Given the description of an element on the screen output the (x, y) to click on. 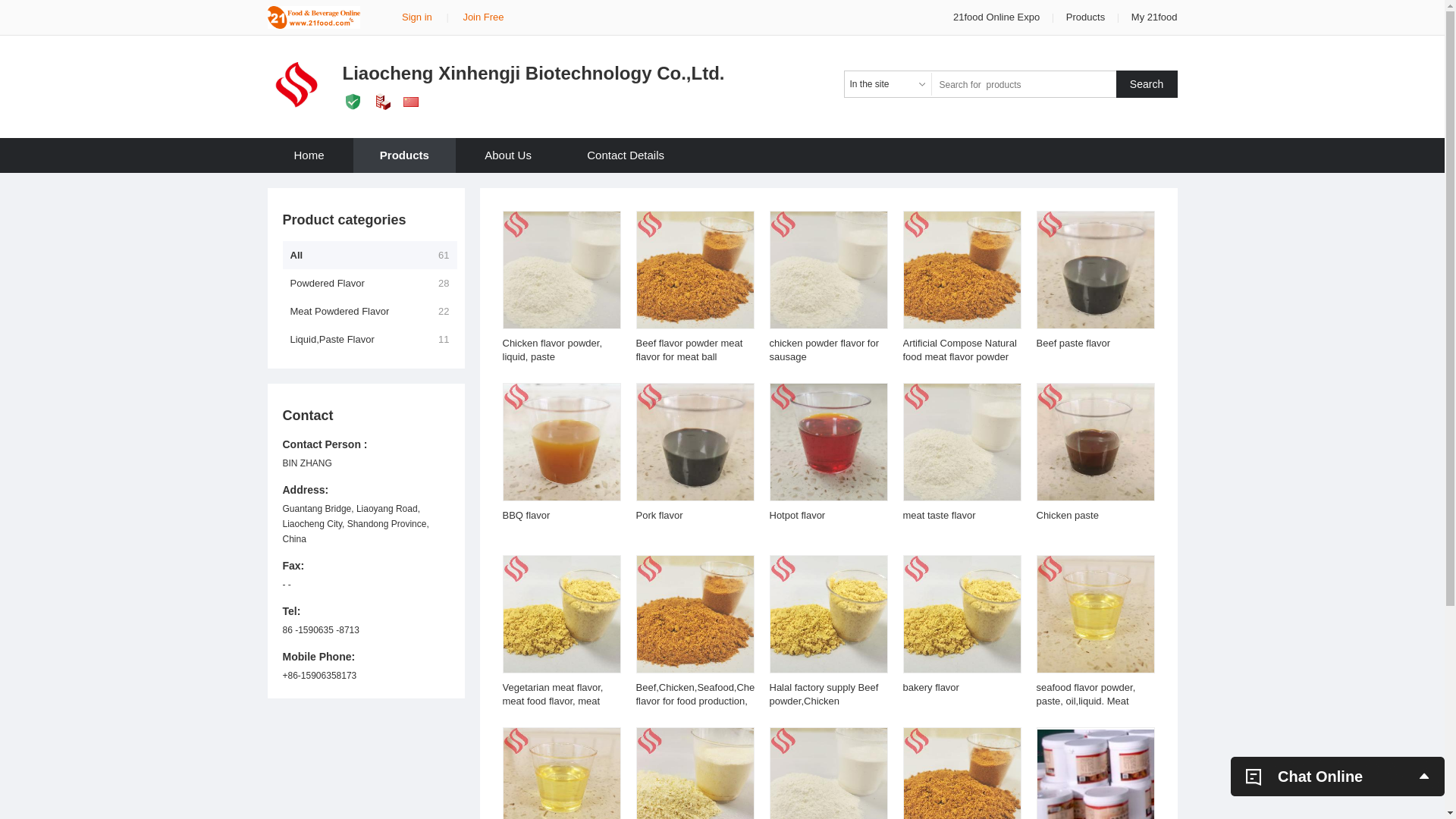
Chicken flavor powder, liquid, paste Element type: text (552, 349)
Products Element type: text (404, 155)
Hotpot flavor Element type: text (796, 514)
My 21food Element type: text (1154, 16)
Chicken paste Element type: text (1066, 514)
Join Free Element type: text (482, 16)
seafood flavor powder, paste, oil,liquid. Meat bouillon Element type: text (1085, 700)
About Us Element type: text (508, 155)
Contact Details Element type: text (625, 155)
21food Online Expo Element type: text (997, 16)
chicken powder flavor for sausage Element type: text (823, 349)
bakery flavor Element type: text (930, 687)
Pork flavor Element type: text (658, 514)
meat taste flavor Element type: text (938, 514)
Products Element type: text (1085, 16)
Artificial Compose Natural food meat flavor powder Element type: text (959, 349)
Search Element type: text (1146, 83)
Sign in Element type: text (416, 16)
Beef flavor powder meat flavor for meat ball sausage Element type: text (688, 356)
Beef paste flavor Element type: text (1072, 342)
Vegetarian meat flavor, meat food flavor, meat powder Element type: text (552, 700)
Home Element type: text (308, 155)
BBQ flavor Element type: text (525, 514)
